Given the description of an element on the screen output the (x, y) to click on. 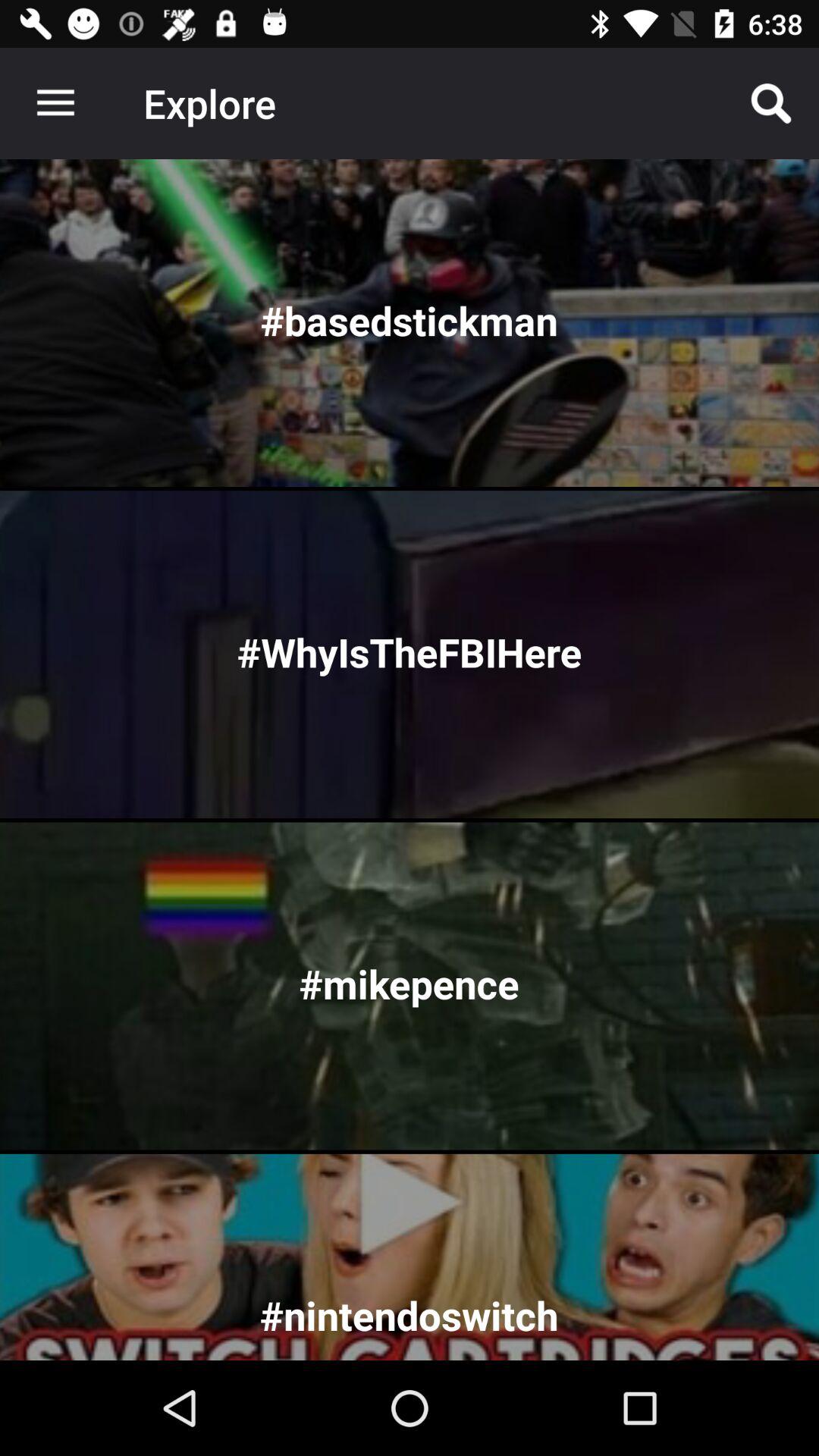
press the icon next to the explore icon (771, 103)
